Given the description of an element on the screen output the (x, y) to click on. 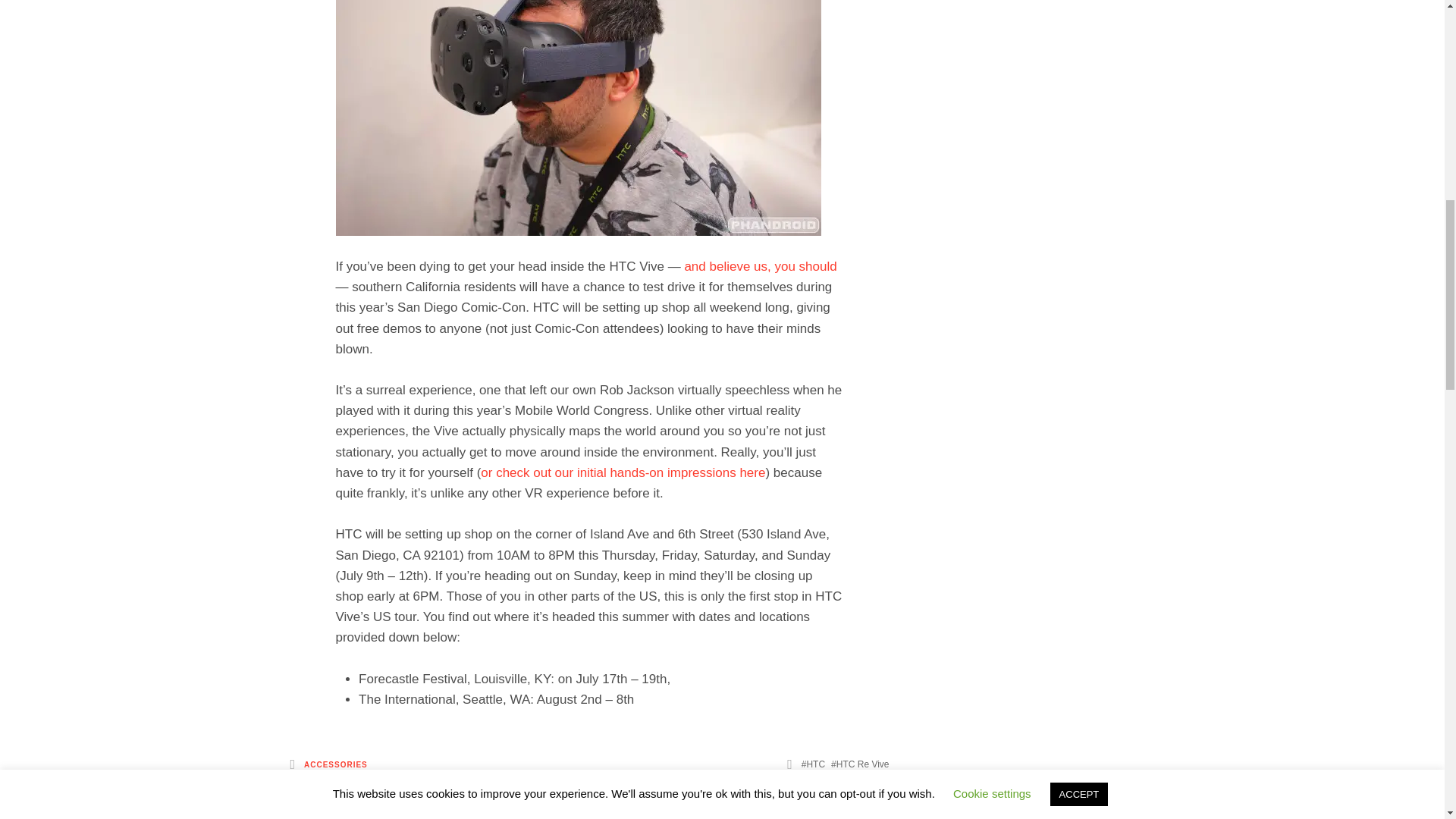
ACCESSORIES (336, 765)
or check out our initial hands-on impressions here (622, 472)
HTC Re Vive (859, 764)
HTC (813, 764)
WEARABLES (317, 784)
VR (879, 783)
and believe us, you should (759, 266)
